Given the description of an element on the screen output the (x, y) to click on. 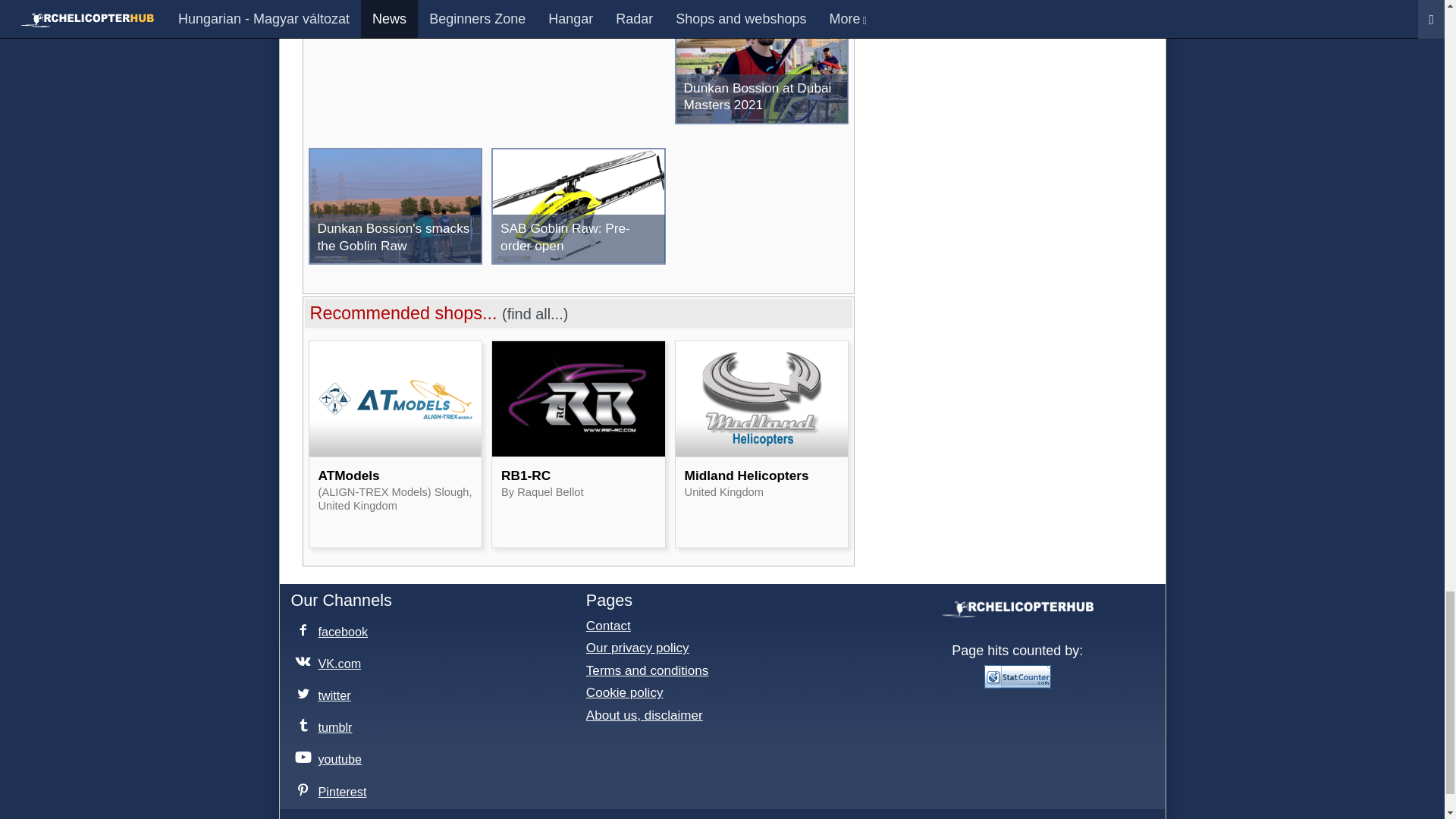
Pin on our Pinterest page (332, 789)
Dunkan Bossion at Dubai Masters 2021 (761, 64)
Follow us on twitter (324, 692)
Watch our videos, sign up to our channel (330, 756)
SAB Goblin Mavraken 800 (578, 9)
SAB Goblin Raw: Pre-order open (578, 206)
Sign up to our tumblr channel (325, 724)
Dunkan Bossion's smacks the Goblin Raw (394, 206)
Follow us on VKONTAKTE (329, 661)
Follow us on Facebook (333, 629)
